Given the description of an element on the screen output the (x, y) to click on. 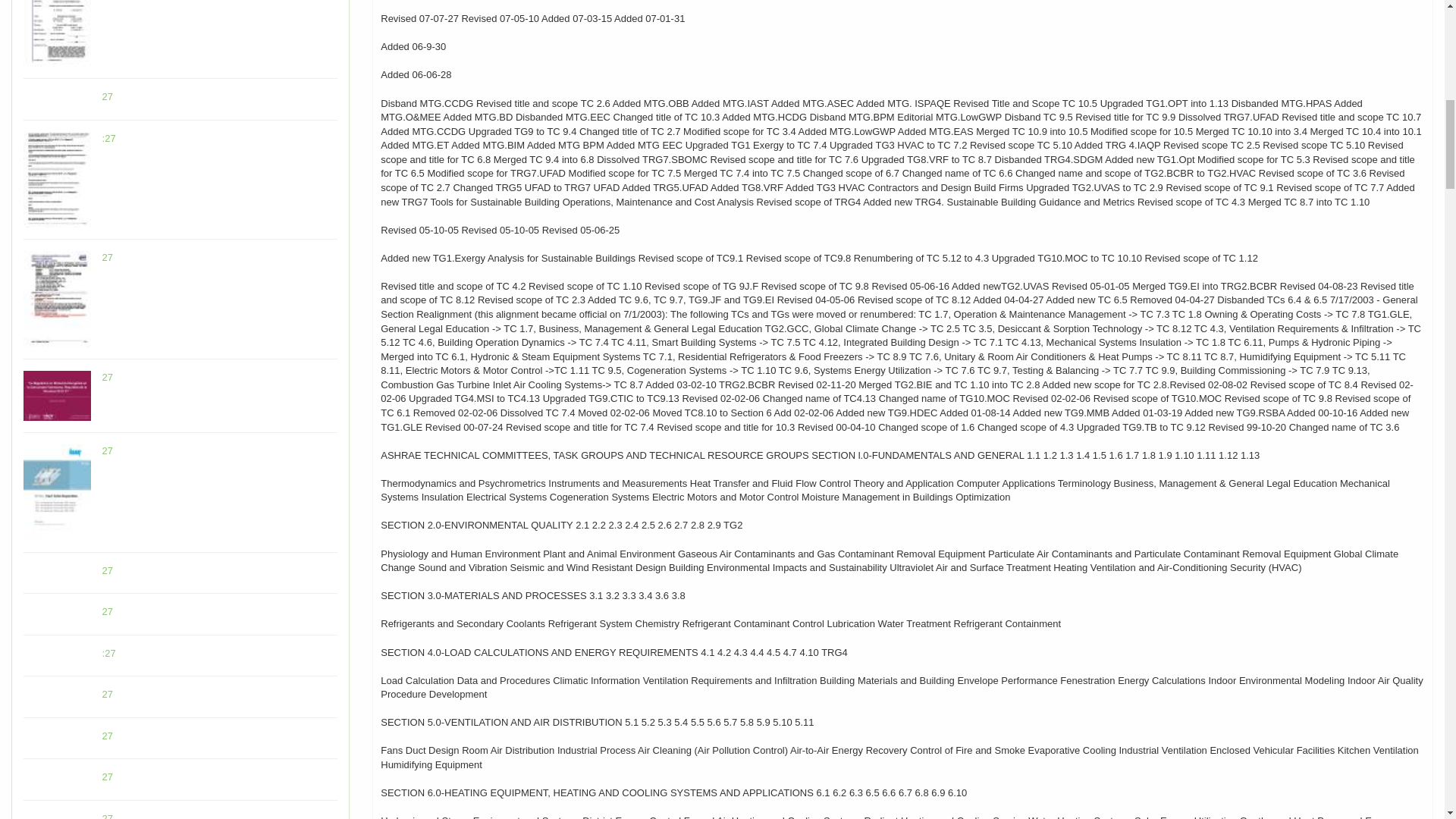
27 (107, 96)
27 (107, 377)
27 (107, 694)
27 (107, 450)
27 (107, 256)
:27 (108, 653)
27 (107, 569)
:27 (108, 138)
27 (107, 611)
